Given the description of an element on the screen output the (x, y) to click on. 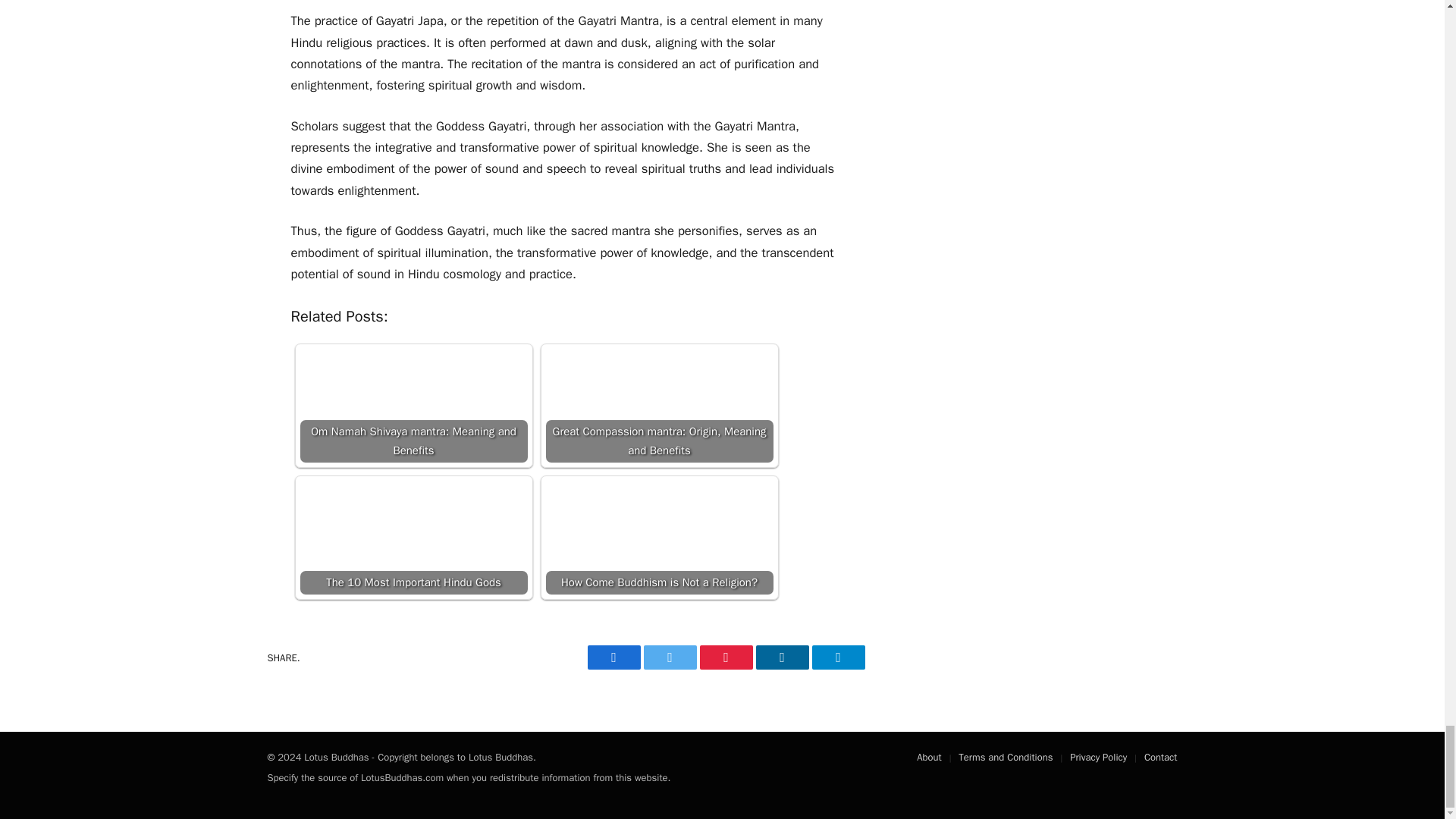
LinkedIn (781, 657)
Pinterest (725, 657)
The 10 Most Important Hindu Gods (413, 537)
How Come Buddhism is Not a Religion? (659, 537)
Om Namah Shivaya mantra: Meaning and Benefits (413, 405)
Facebook (613, 657)
Great Compassion mantra: Origin, Meaning and Benefits (659, 405)
Twitter (669, 657)
